Given the description of an element on the screen output the (x, y) to click on. 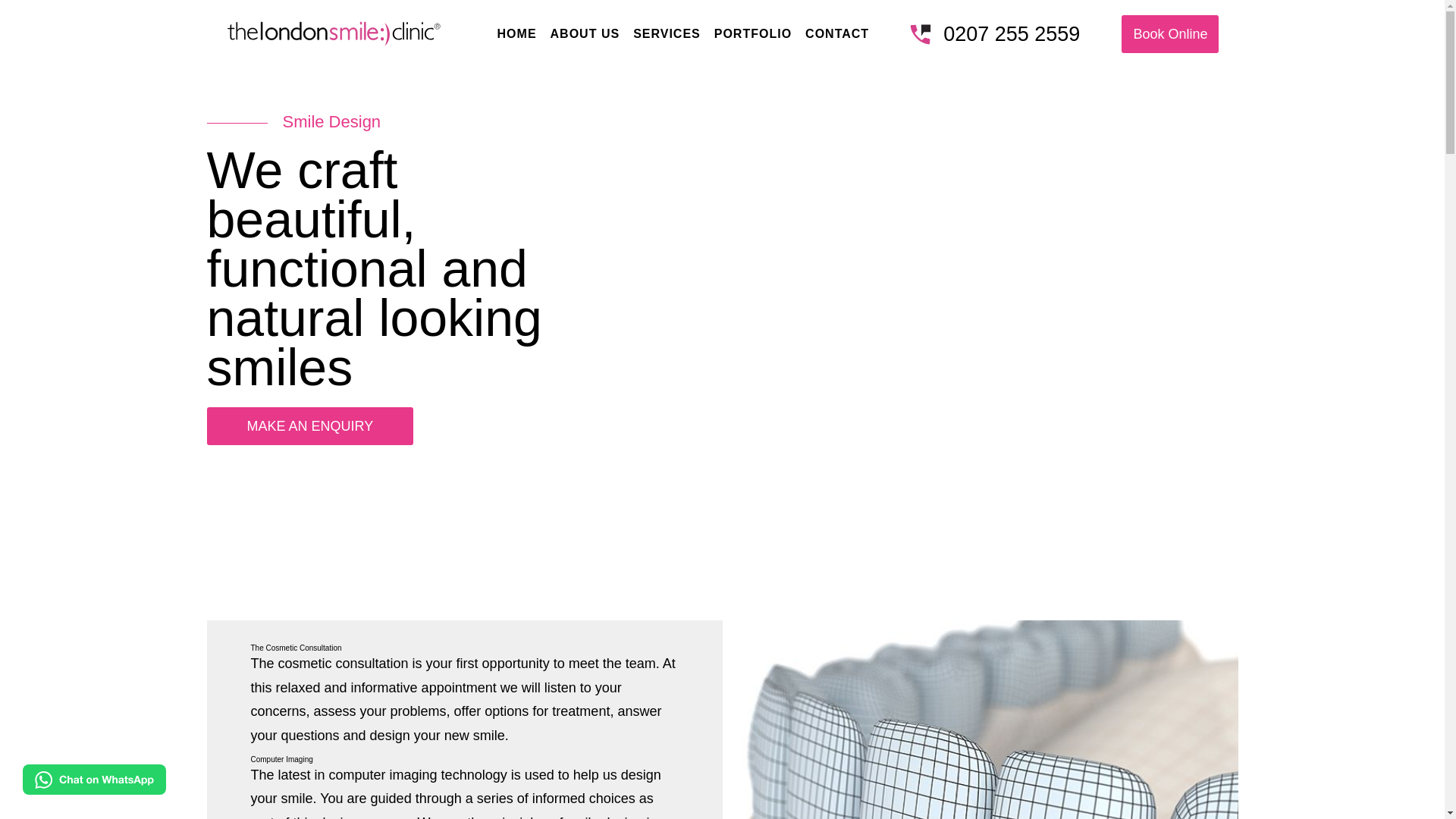
Contact us via WhatsApp (83, 780)
SERVICES (666, 33)
0207 255 2559 (995, 34)
ABOUT US (585, 33)
HOME (516, 33)
CONTACT (836, 33)
PORTFOLIO (752, 33)
Book Online (1169, 34)
